Given the description of an element on the screen output the (x, y) to click on. 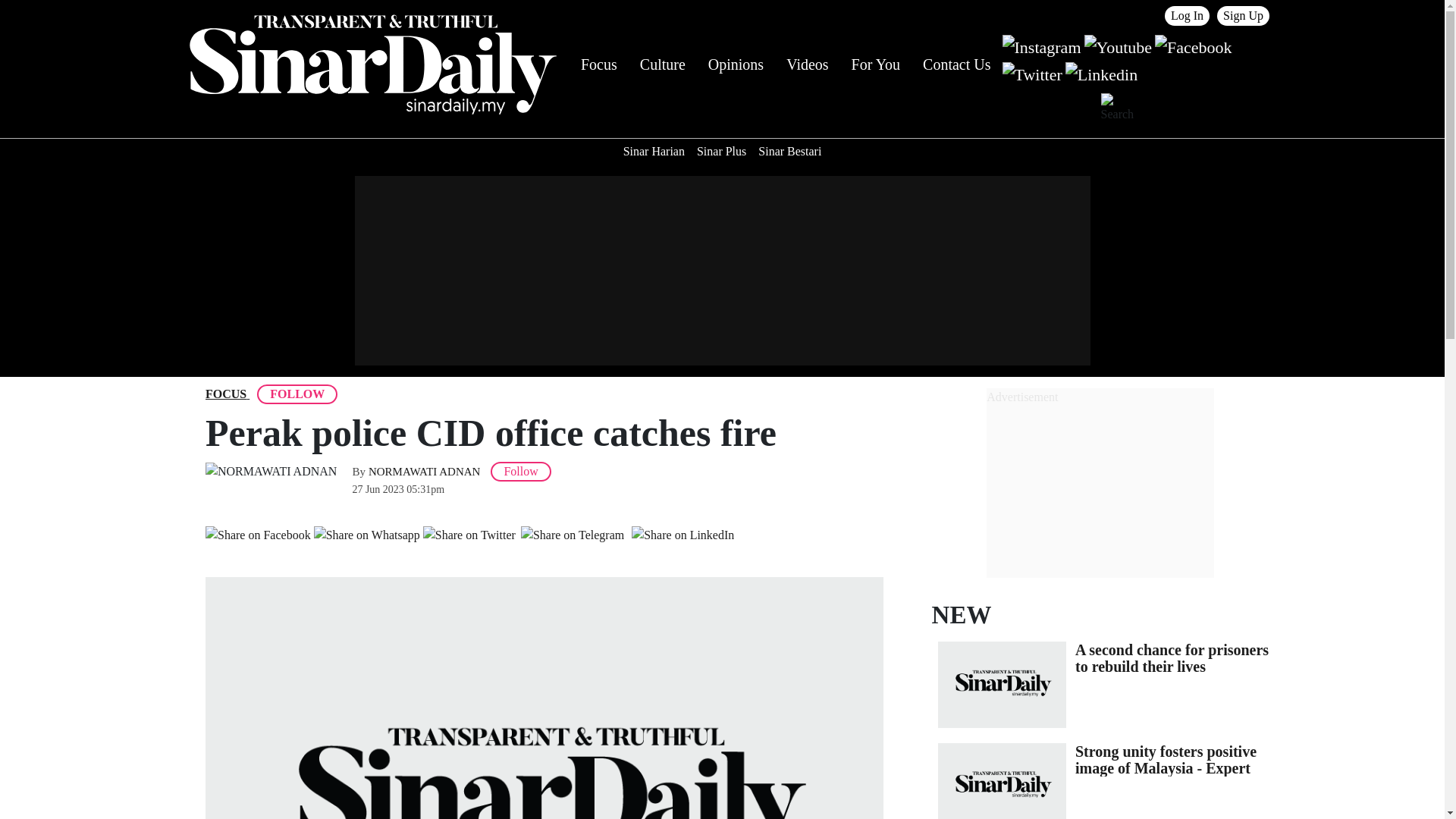
Sinar Bestari (789, 151)
Share on LinkedIn (682, 535)
Log In (1186, 15)
Focus (598, 64)
Sign Up (1243, 15)
signup (1243, 15)
Linkedin (1101, 72)
Opinions (734, 64)
Facebook (1192, 46)
NORMAWATI ADNAN (424, 471)
